Given the description of an element on the screen output the (x, y) to click on. 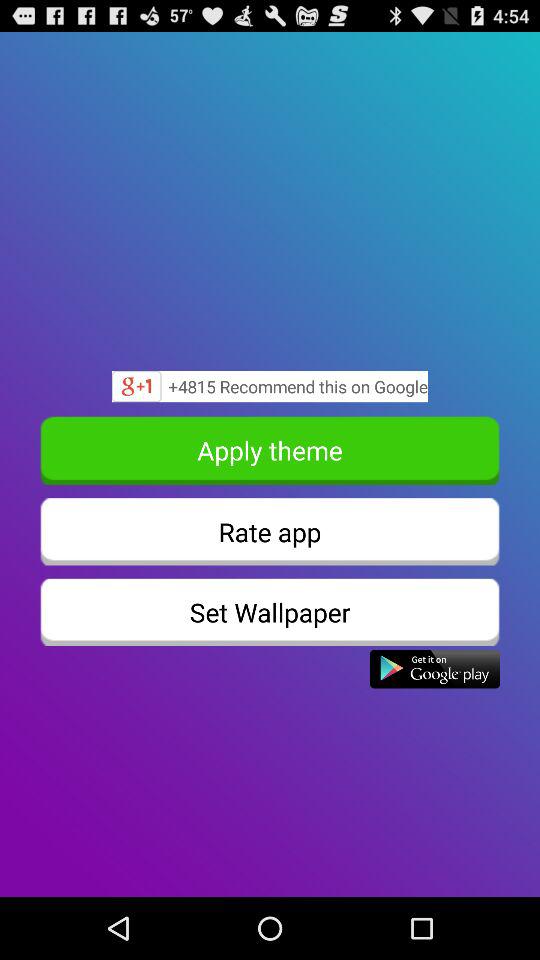
scroll until set wallpaper icon (269, 611)
